Given the description of an element on the screen output the (x, y) to click on. 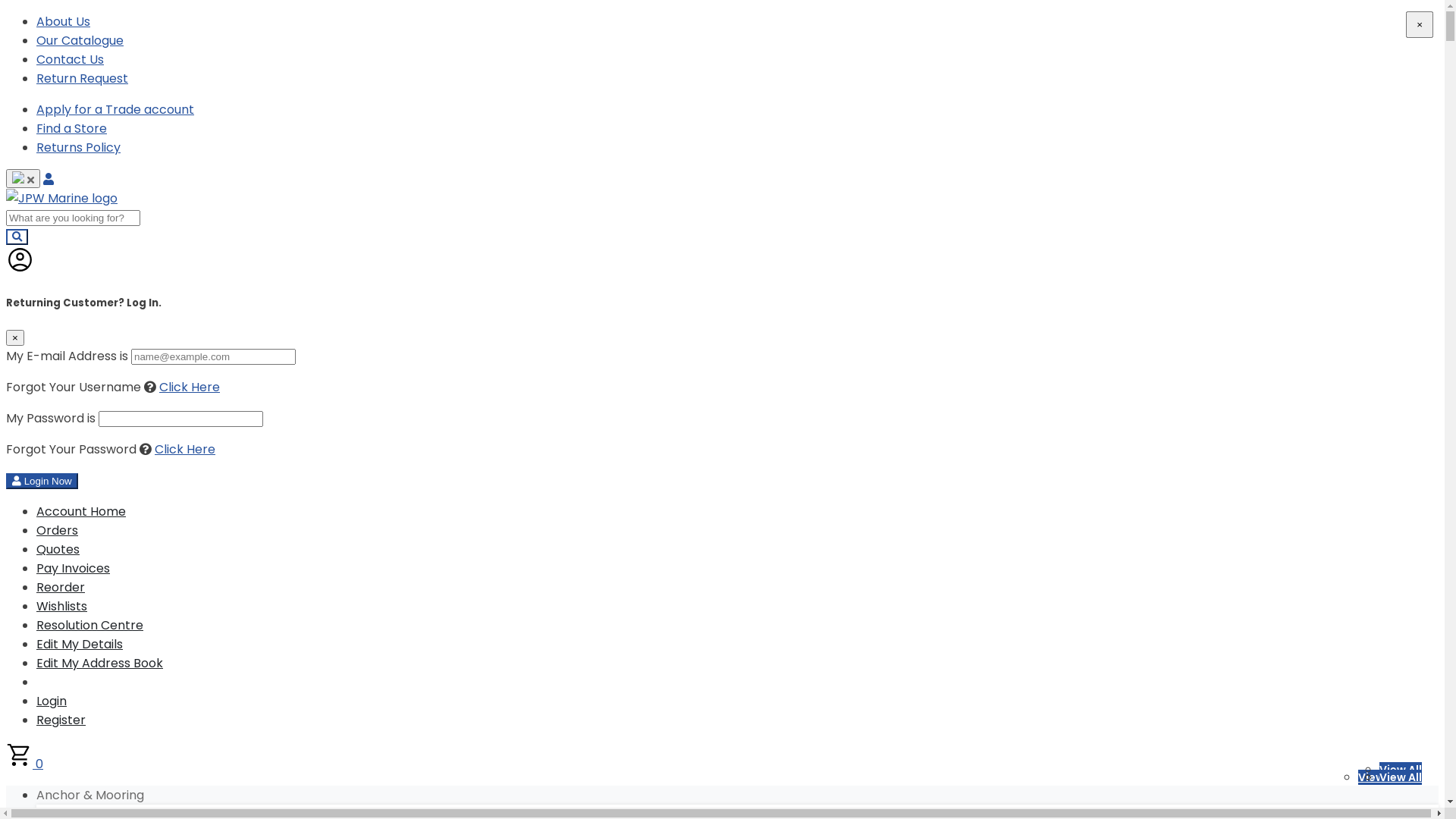
Contact Us Element type: text (69, 59)
Search Element type: text (17, 236)
View All Element type: text (1400, 769)
Quotes Element type: text (57, 549)
0 Element type: text (24, 763)
Find a Store Element type: text (71, 128)
JPW Marine Element type: hover (61, 198)
Our Catalogue Element type: text (79, 40)
Orders Element type: text (57, 530)
Edit My Address Book Element type: text (99, 662)
Skip to main content Element type: text (5, 11)
View All Element type: text (1400, 776)
Login Now Element type: text (42, 481)
Click Here Element type: text (189, 386)
Resolution Centre Element type: text (89, 624)
View All Element type: text (1379, 776)
Pay Invoices Element type: text (72, 568)
Click Here Element type: text (184, 449)
Login Element type: text (51, 700)
Register Element type: text (60, 719)
Return Request Element type: text (82, 78)
Anchor & Mooring Element type: text (90, 794)
Account Home Element type: text (80, 511)
About Us Element type: text (63, 21)
Wishlists Element type: text (61, 606)
Reorder Element type: text (60, 587)
Edit My Details Element type: text (79, 643)
Returns Policy Element type: text (78, 147)
Apply for a Trade account Element type: text (115, 109)
